Given the description of an element on the screen output the (x, y) to click on. 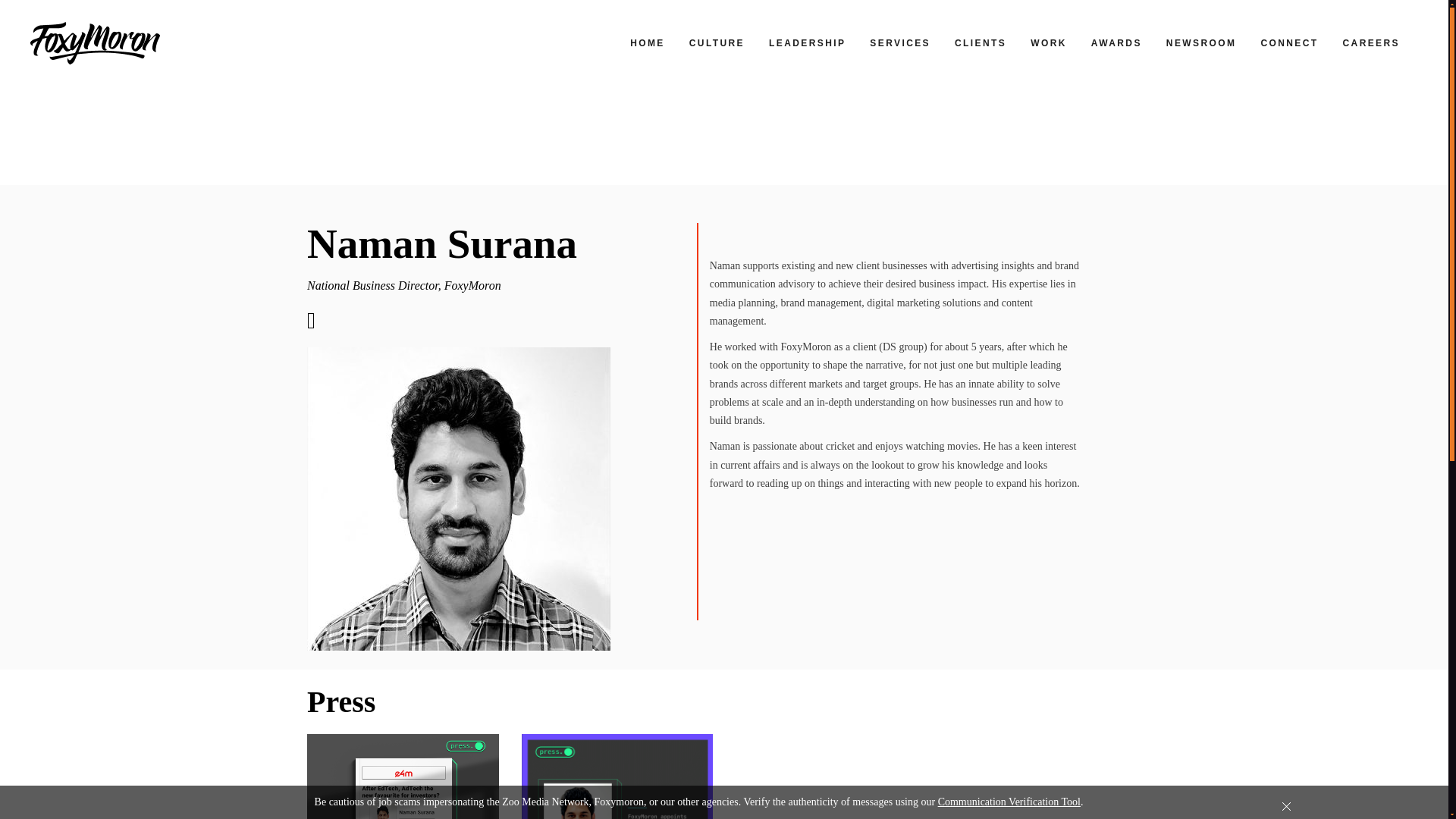
Naman-Surana (458, 498)
Communication Verification Tool (1008, 801)
